Given the description of an element on the screen output the (x, y) to click on. 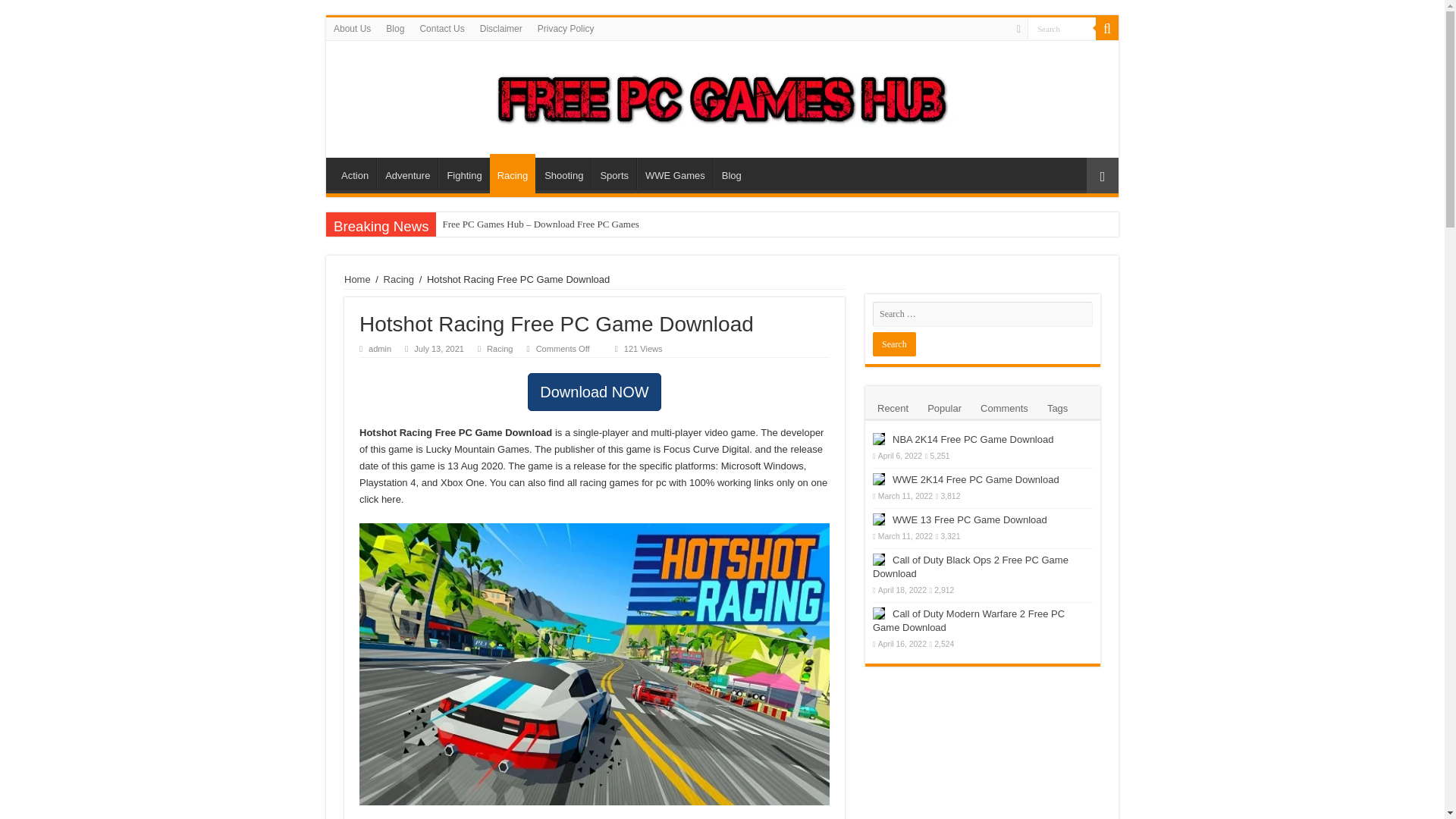
Adventure (407, 173)
Racing (512, 173)
admin (379, 347)
Racing (499, 347)
Blog (731, 173)
Contact Us (441, 28)
Shooting (563, 173)
Fighting (463, 173)
Privacy Policy (565, 28)
Random Article (1102, 175)
